Given the description of an element on the screen output the (x, y) to click on. 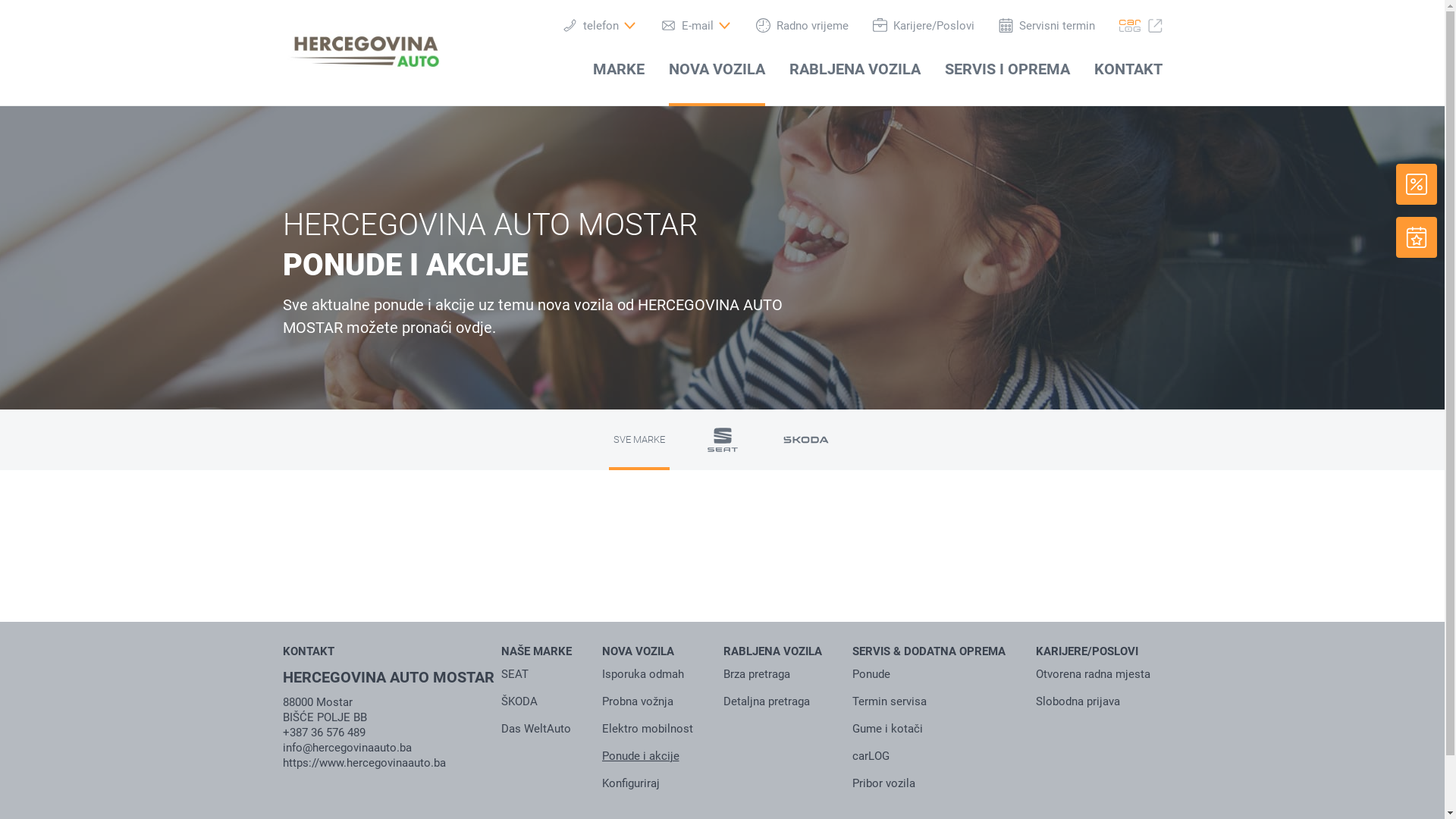
Radno vrijeme Element type: text (801, 25)
Brza pretraga Element type: text (756, 673)
Slobodna prijava Element type: text (1077, 701)
E-mail Element type: text (696, 25)
Konfiguriraj Element type: text (630, 783)
Ponude i akcije Element type: text (640, 755)
Das WeltAuto Element type: text (535, 728)
HERCEGOVINA AUTO MOSTAR Element type: text (388, 688)
Otvorena radna mjesta Element type: text (1092, 673)
Termin servisa Element type: text (889, 701)
Pribor vozila Element type: text (883, 783)
Isporuka odmah Element type: text (643, 673)
HERCEGOVINA AUTO MOSTAR Element type: hover (360, 50)
Karijere/Poslovi Element type: text (922, 25)
carLOG Element type: text (870, 755)
Detaljna pretraga Element type: text (766, 701)
Elektro mobilnost Element type: text (647, 728)
Ponude Element type: text (871, 673)
SEAT Element type: text (513, 673)
Servisni termin Element type: text (1045, 25)
SVE MARKE Element type: text (638, 439)
telefon Element type: text (599, 25)
